Given the description of an element on the screen output the (x, y) to click on. 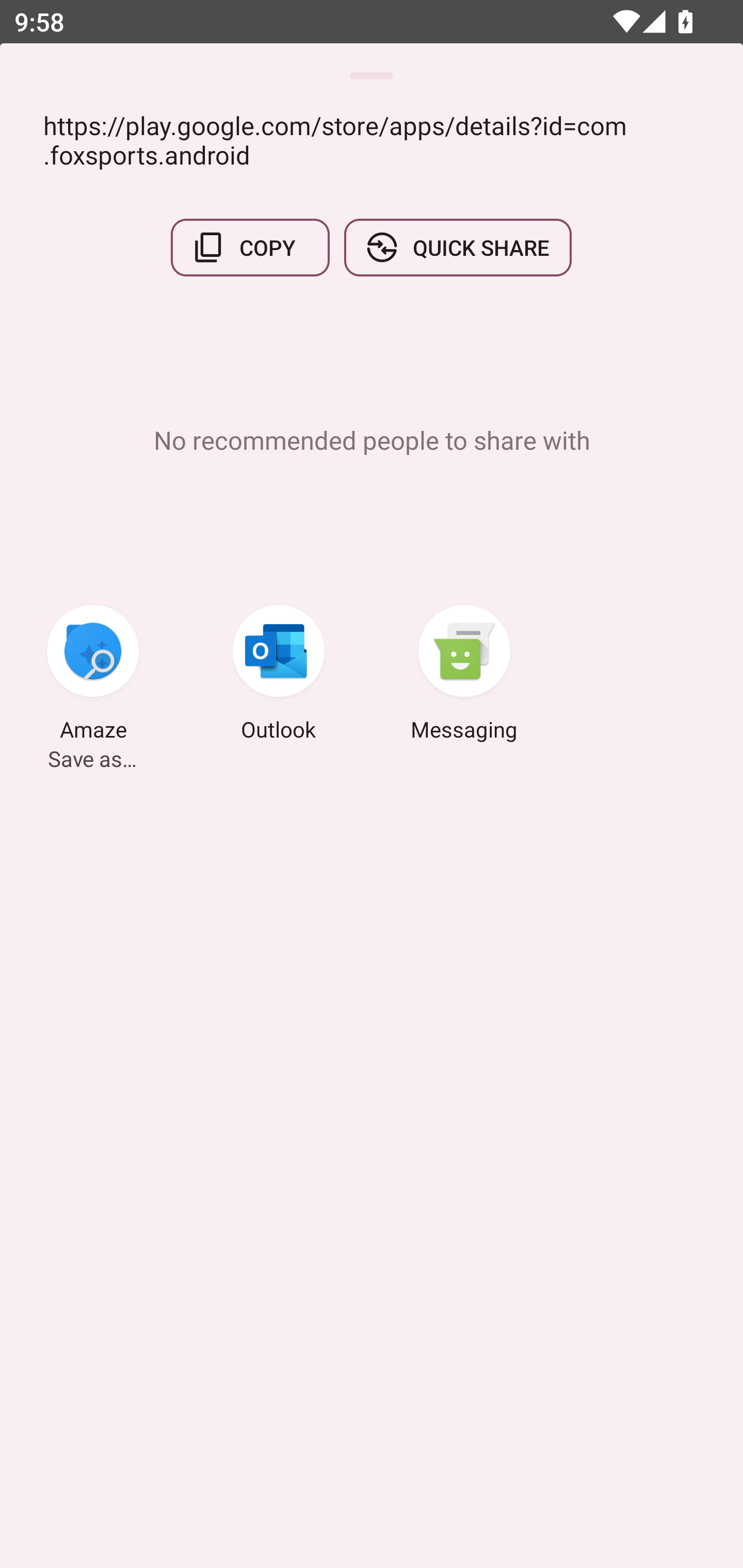
COPY (249, 247)
QUICK SHARE (457, 247)
Amaze Save as… (92, 675)
Outlook (278, 675)
Messaging (464, 675)
